Given the description of an element on the screen output the (x, y) to click on. 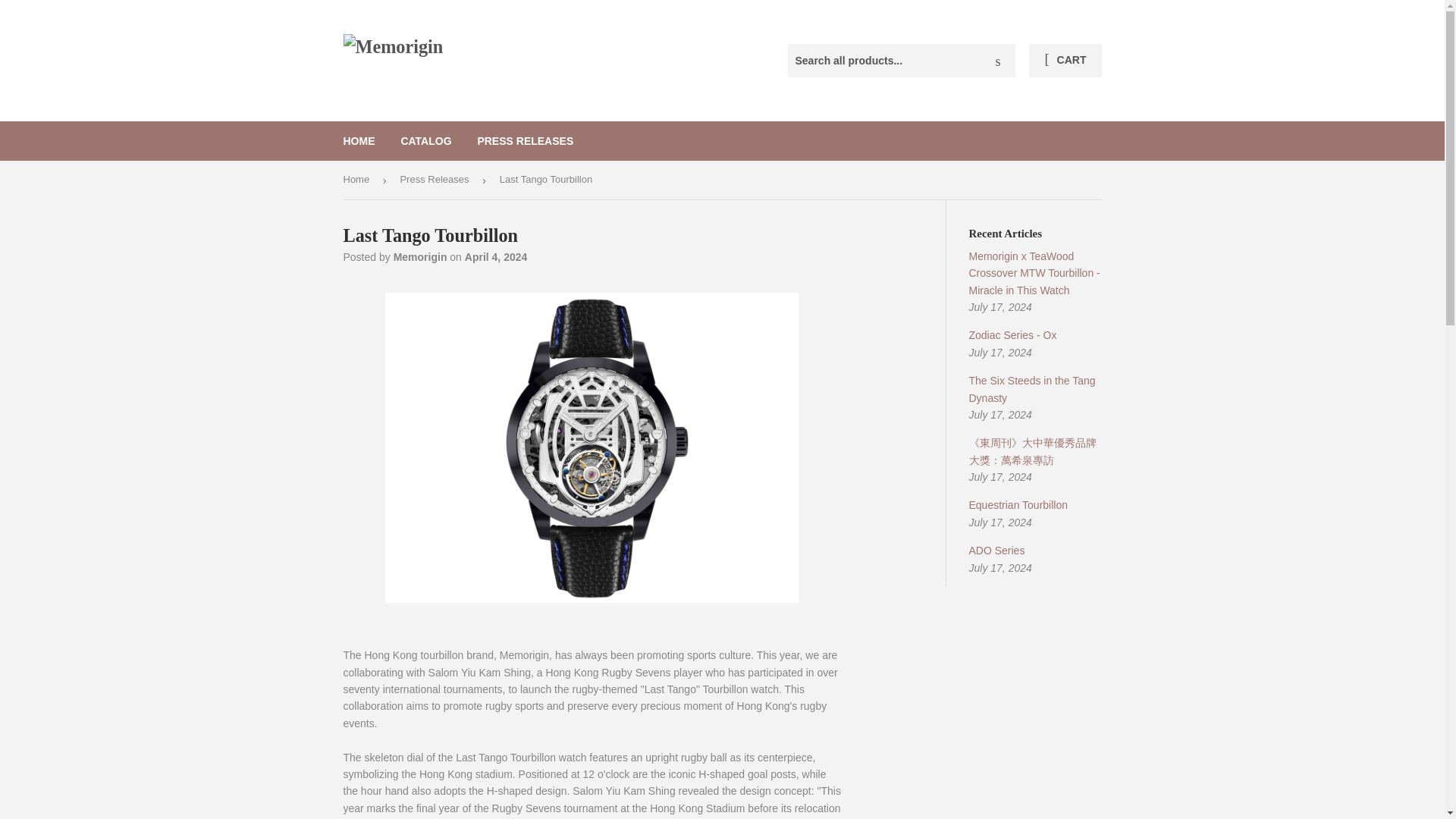
HOME (359, 140)
Zodiac Series - Ox (1013, 335)
CATALOG (425, 140)
The Six Steeds in the Tang Dynasty (1032, 388)
ADO Series (997, 550)
PRESS RELEASES (525, 140)
Equestrian Tourbillon (1018, 504)
Search (997, 60)
CART (1064, 60)
Press Releases (436, 179)
